Given the description of an element on the screen output the (x, y) to click on. 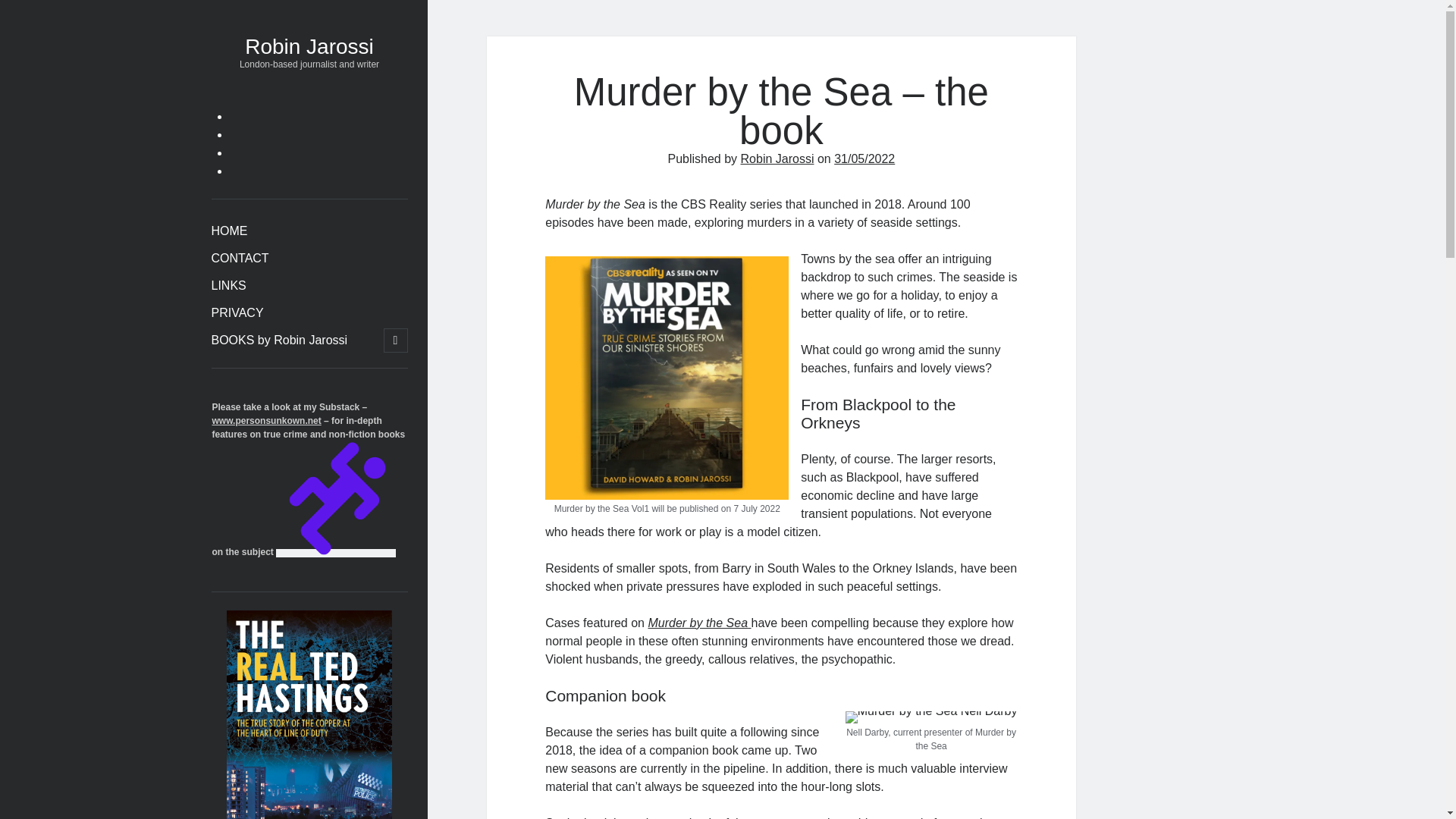
PRIVACY (237, 312)
Robin Jarossi (309, 46)
Murder by the Sea (699, 622)
HOME (229, 230)
LINKS (228, 285)
Robin Jarossi (777, 158)
BOOKS by Robin Jarossi (279, 340)
www.personsunkown.net (266, 420)
CONTACT (239, 258)
